Given the description of an element on the screen output the (x, y) to click on. 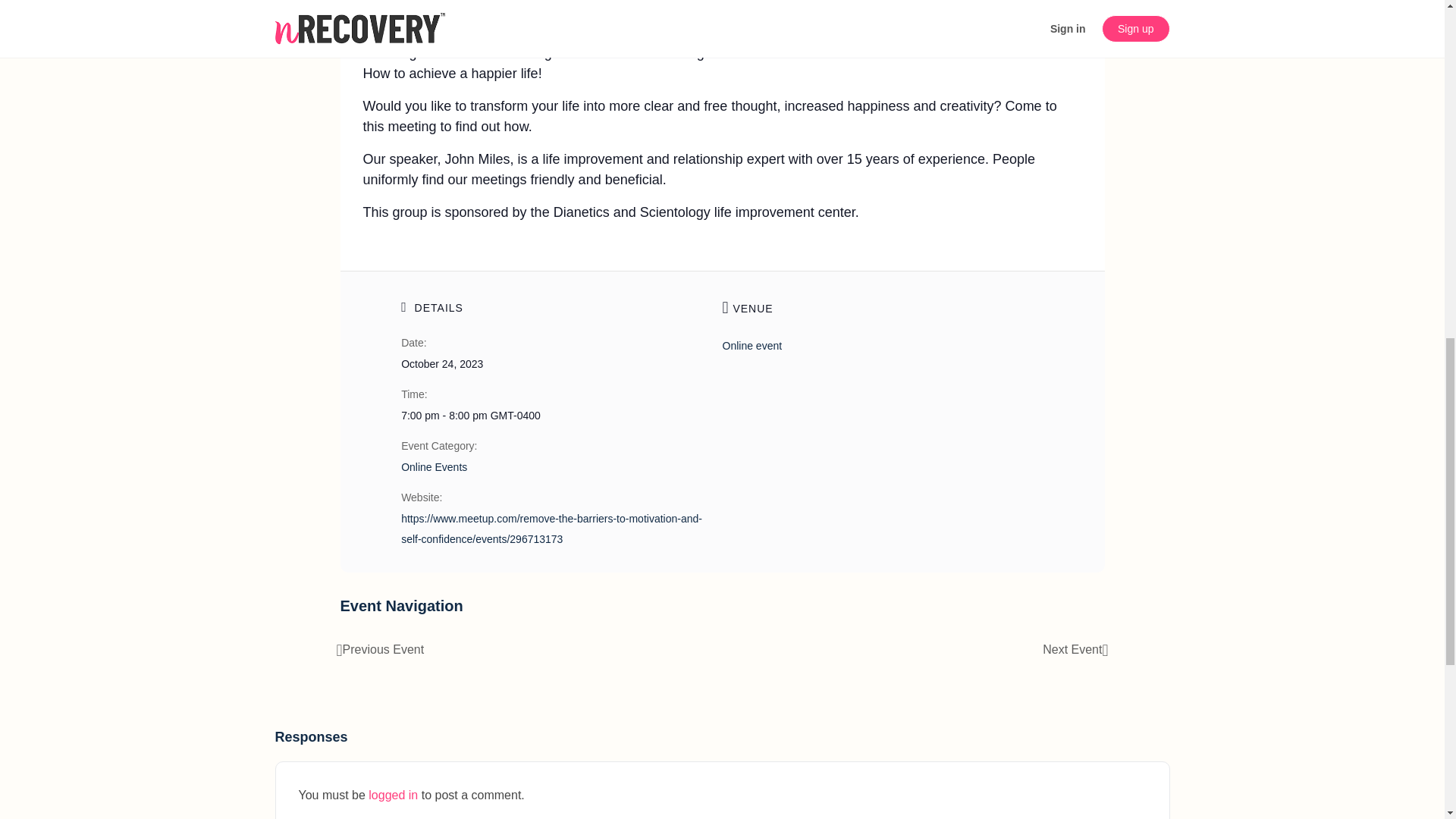
2023-10-24 (442, 363)
Previous Event (380, 649)
Online Events (434, 467)
logged in (392, 794)
Online event (751, 345)
Next Event (1075, 649)
2023-10-24 (552, 415)
